Given the description of an element on the screen output the (x, y) to click on. 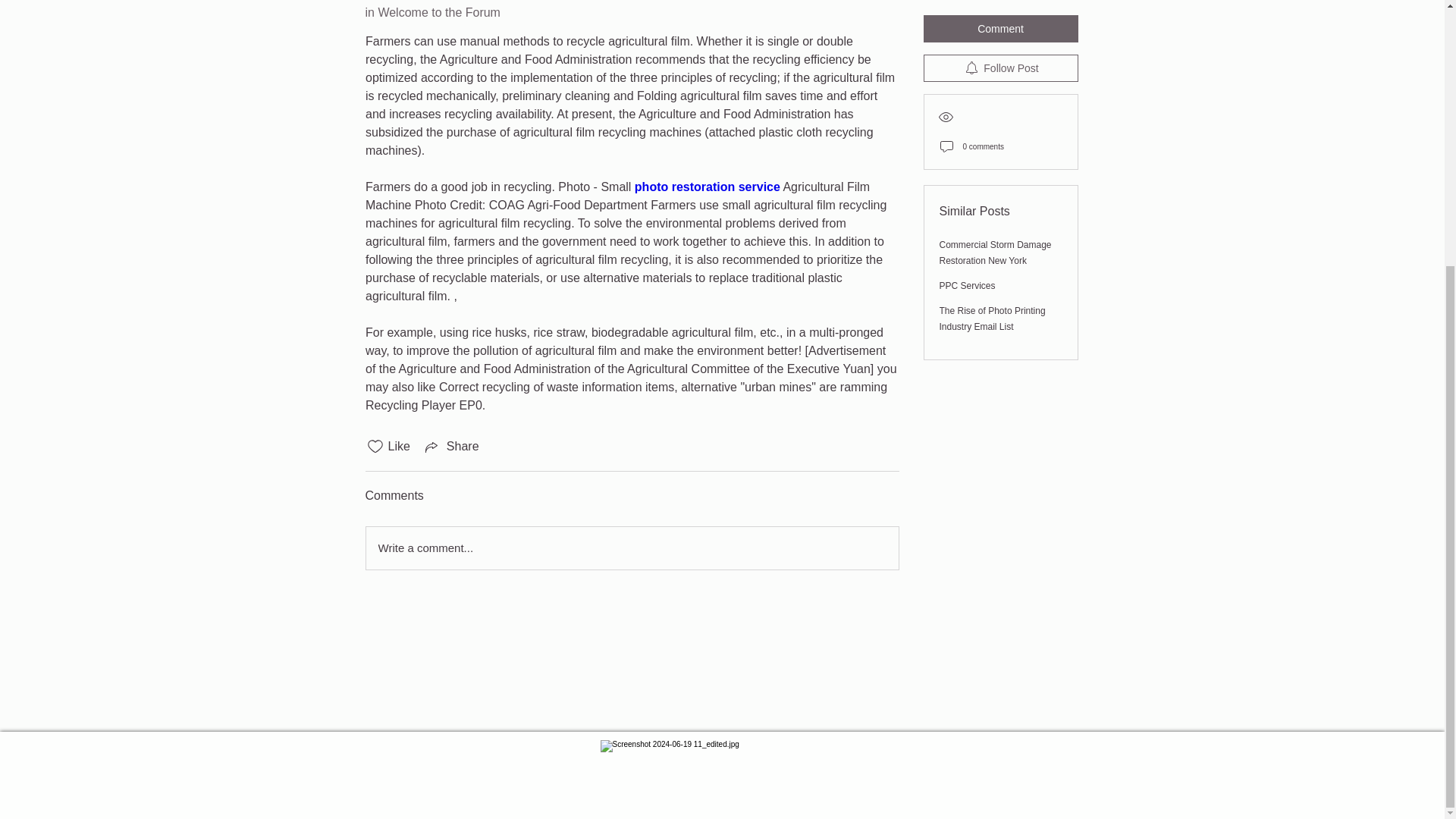
Commercial Storm Damage Restoration New York (995, 163)
photo restoration service (705, 186)
in Welcome to the Forum (432, 11)
The Rise of Photo Printing Industry Email List (992, 230)
Write a comment... (631, 548)
PPC Services (966, 196)
Share (450, 446)
